Given the description of an element on the screen output the (x, y) to click on. 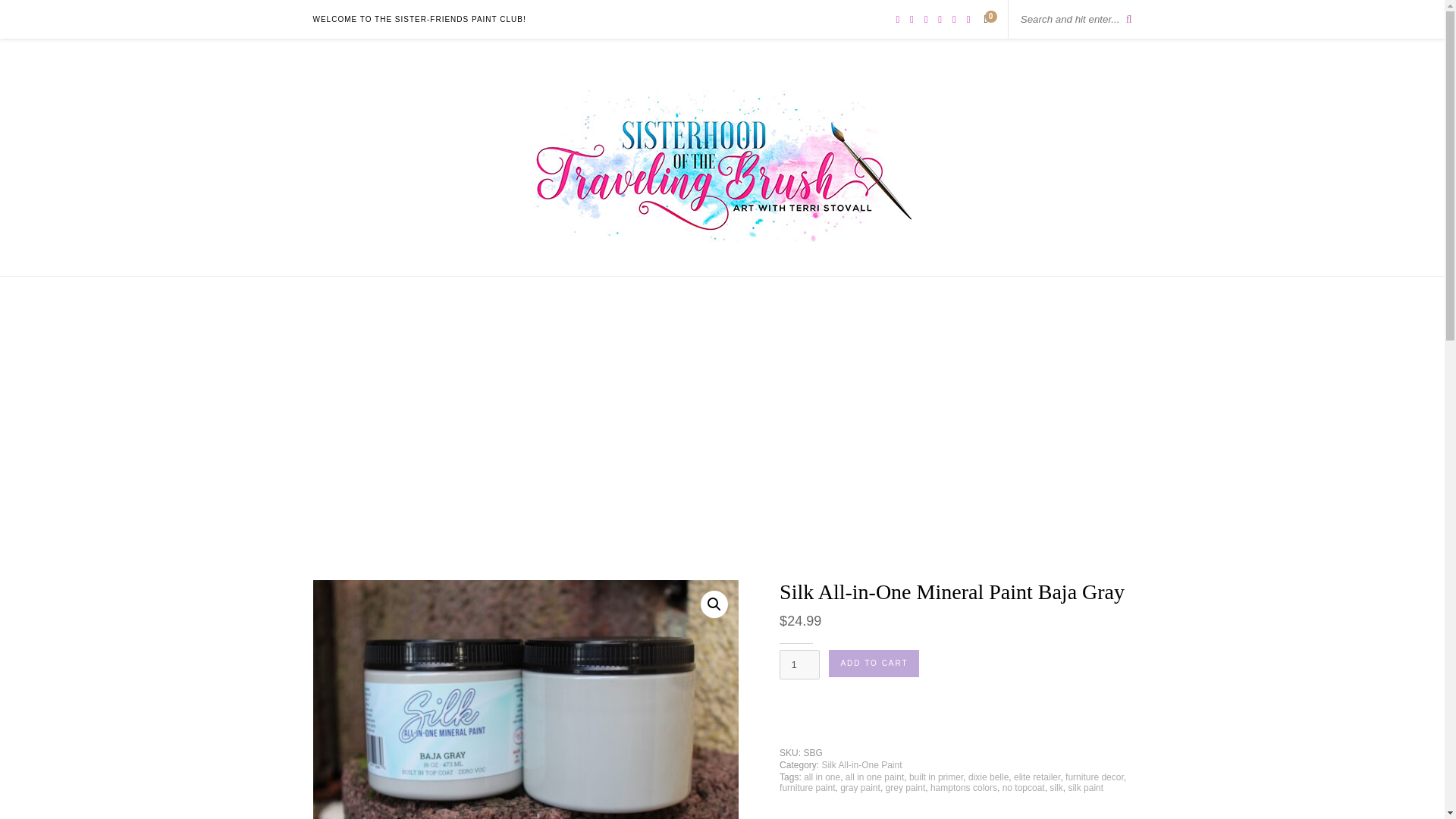
grey paint (905, 787)
hamptons colors (963, 787)
elite retailer (1036, 777)
WELCOME TO THE SISTER-FRIENDS PAINT CLUB! (419, 19)
Silk All-in-One Paint (861, 765)
1 (798, 664)
ADD TO CART (873, 663)
no topcoat (1024, 787)
dixie belle (988, 777)
silk paint (1085, 787)
